Given the description of an element on the screen output the (x, y) to click on. 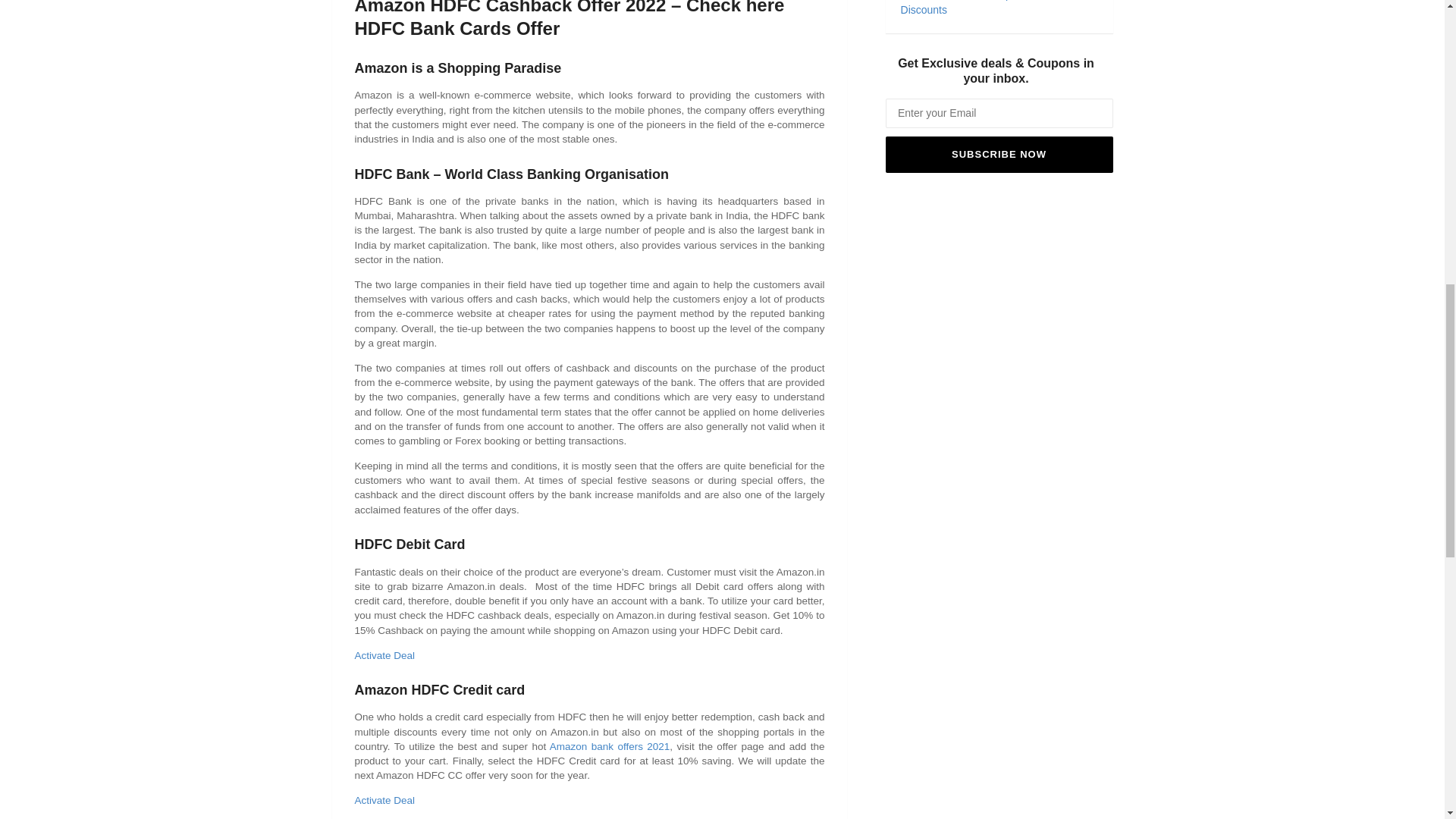
Subscribe now (999, 154)
